Given the description of an element on the screen output the (x, y) to click on. 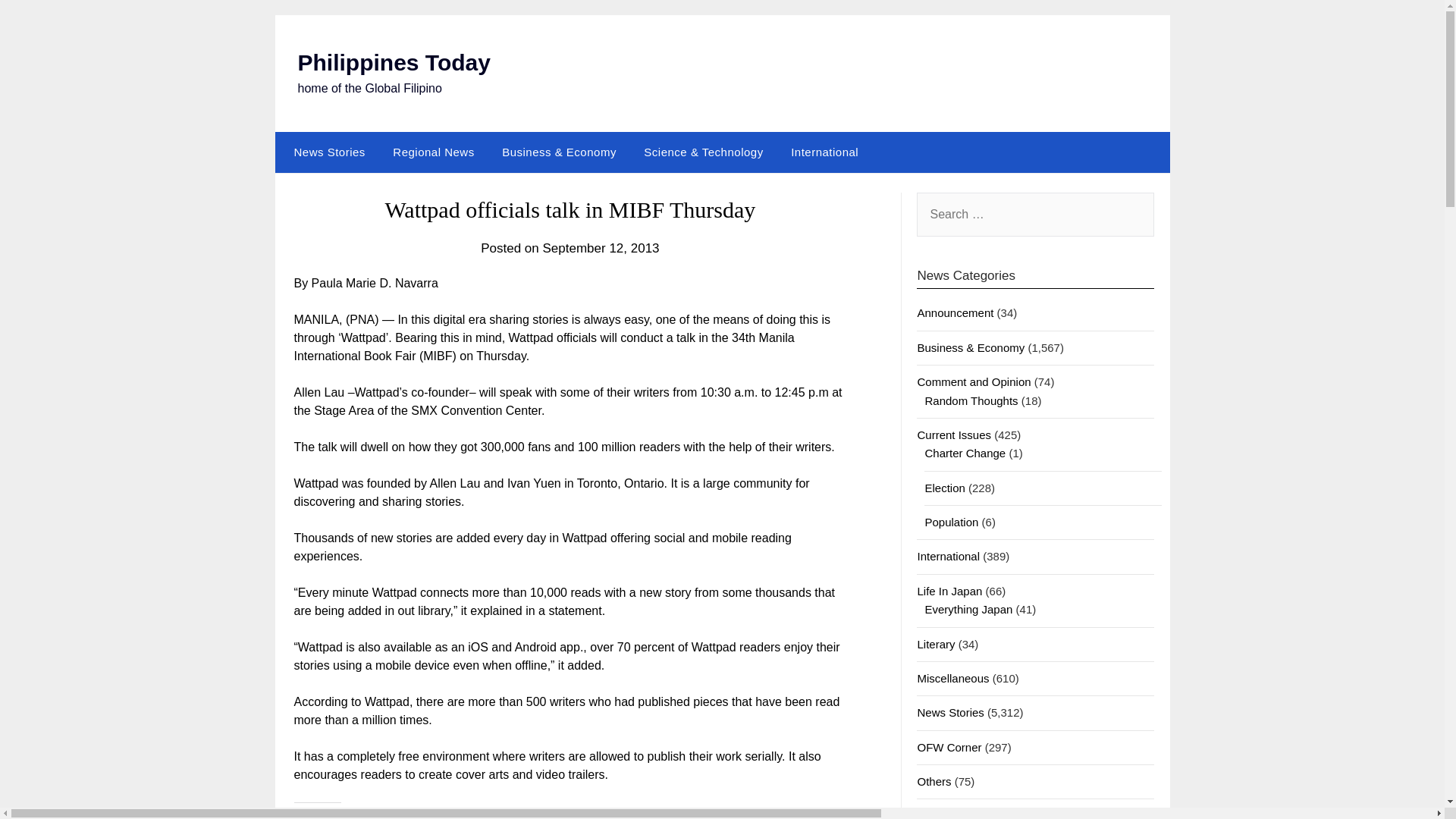
Regional News (433, 151)
Random Thoughts (970, 400)
Comment and Opinion (973, 381)
Population (951, 521)
Everything Japan (967, 608)
Current Issues (954, 434)
OFW Corner (949, 747)
Literary (936, 644)
People (934, 814)
Life In Japan (949, 590)
